Given the description of an element on the screen output the (x, y) to click on. 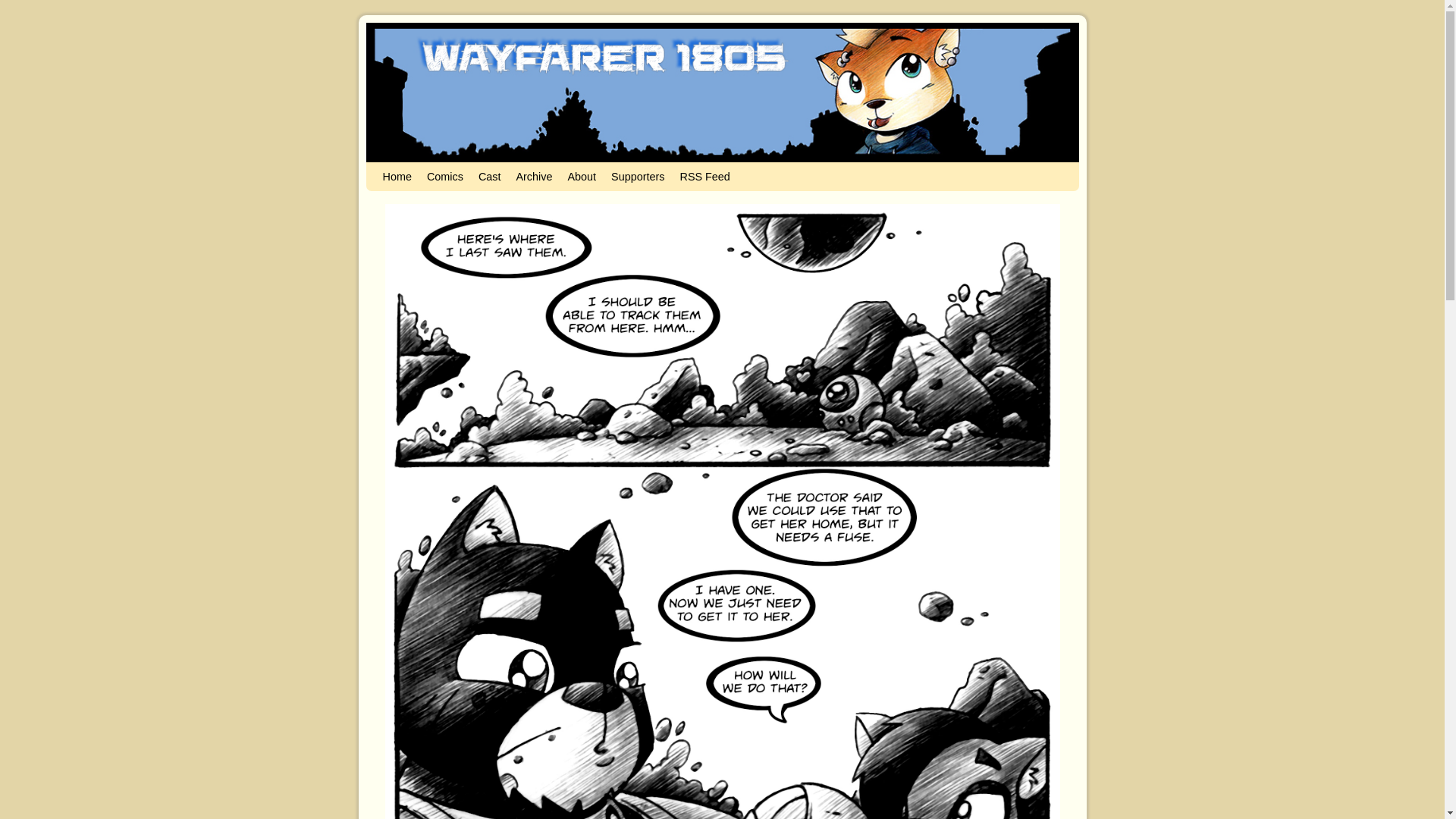
Skip to primary content (408, 169)
Archive (533, 176)
Home (396, 176)
Cast (489, 176)
RSS Feed (703, 176)
About (581, 176)
Skip to secondary content (412, 169)
Supporters (637, 176)
Comics (444, 176)
